Given the description of an element on the screen output the (x, y) to click on. 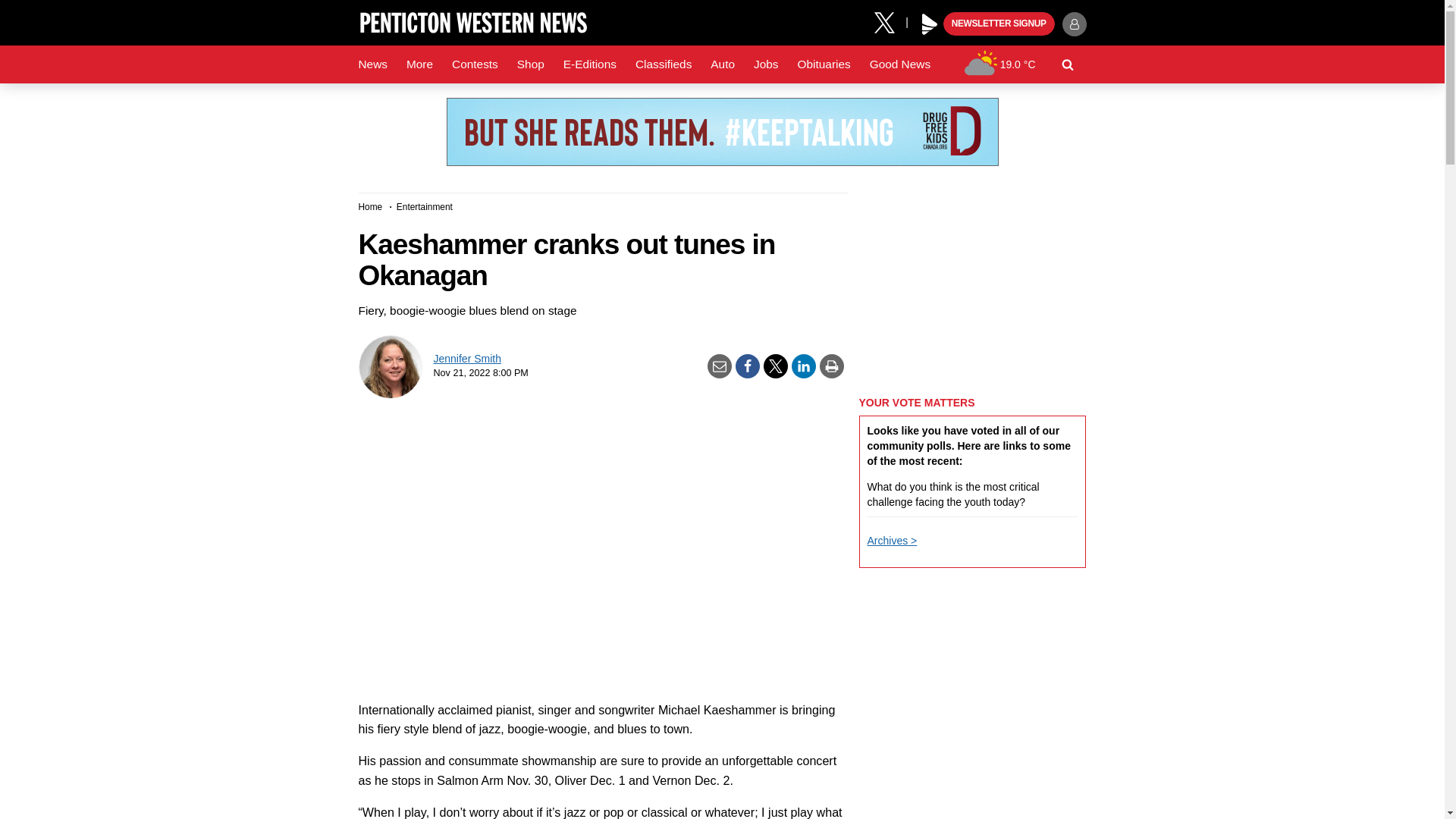
NEWSLETTER SIGNUP (998, 24)
Play (929, 24)
3rd party ad content (721, 131)
Black Press Media (929, 24)
X (889, 21)
News (372, 64)
